Given the description of an element on the screen output the (x, y) to click on. 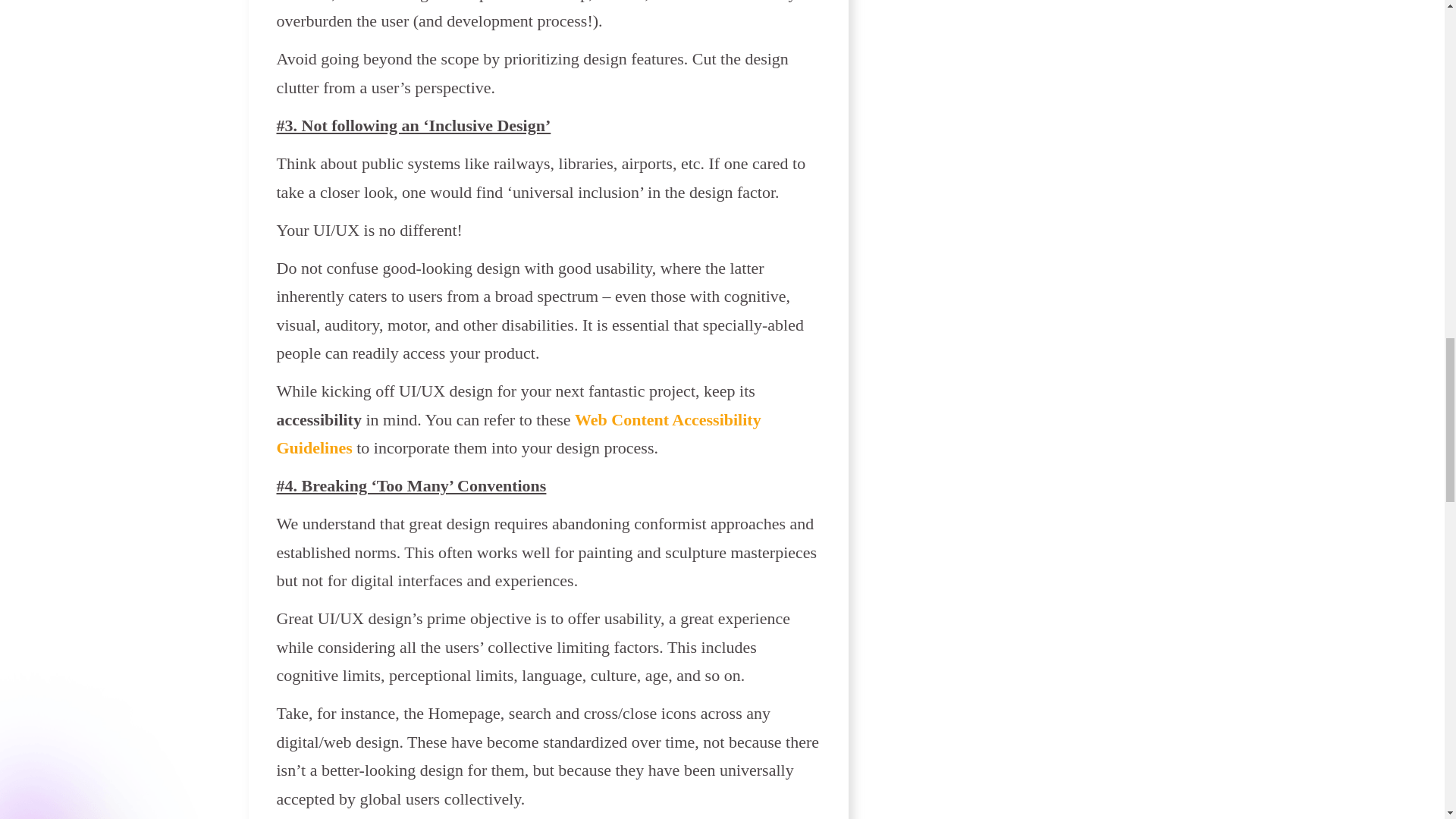
Web Content Accessibility Guidelines (518, 433)
